Given the description of an element on the screen output the (x, y) to click on. 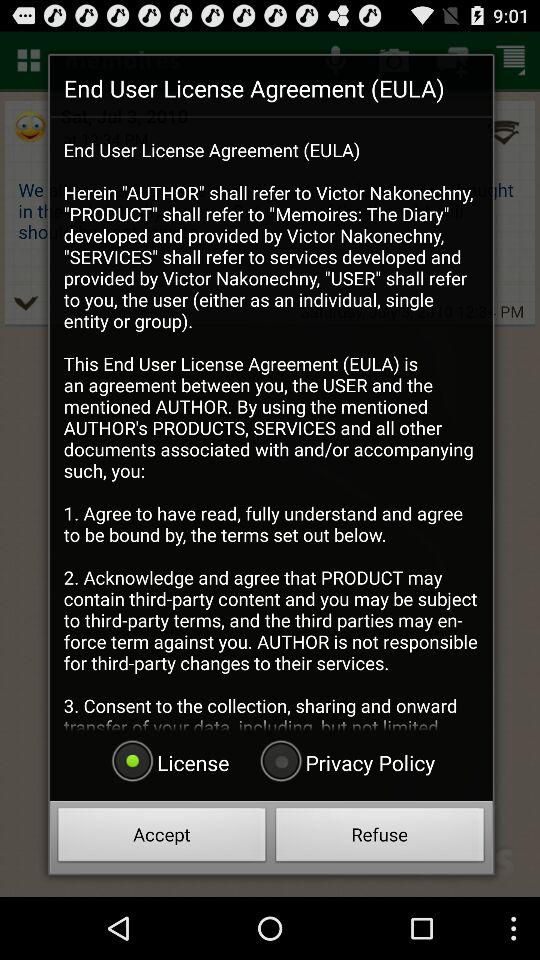
click item to the left of the refuse item (162, 837)
